Given the description of an element on the screen output the (x, y) to click on. 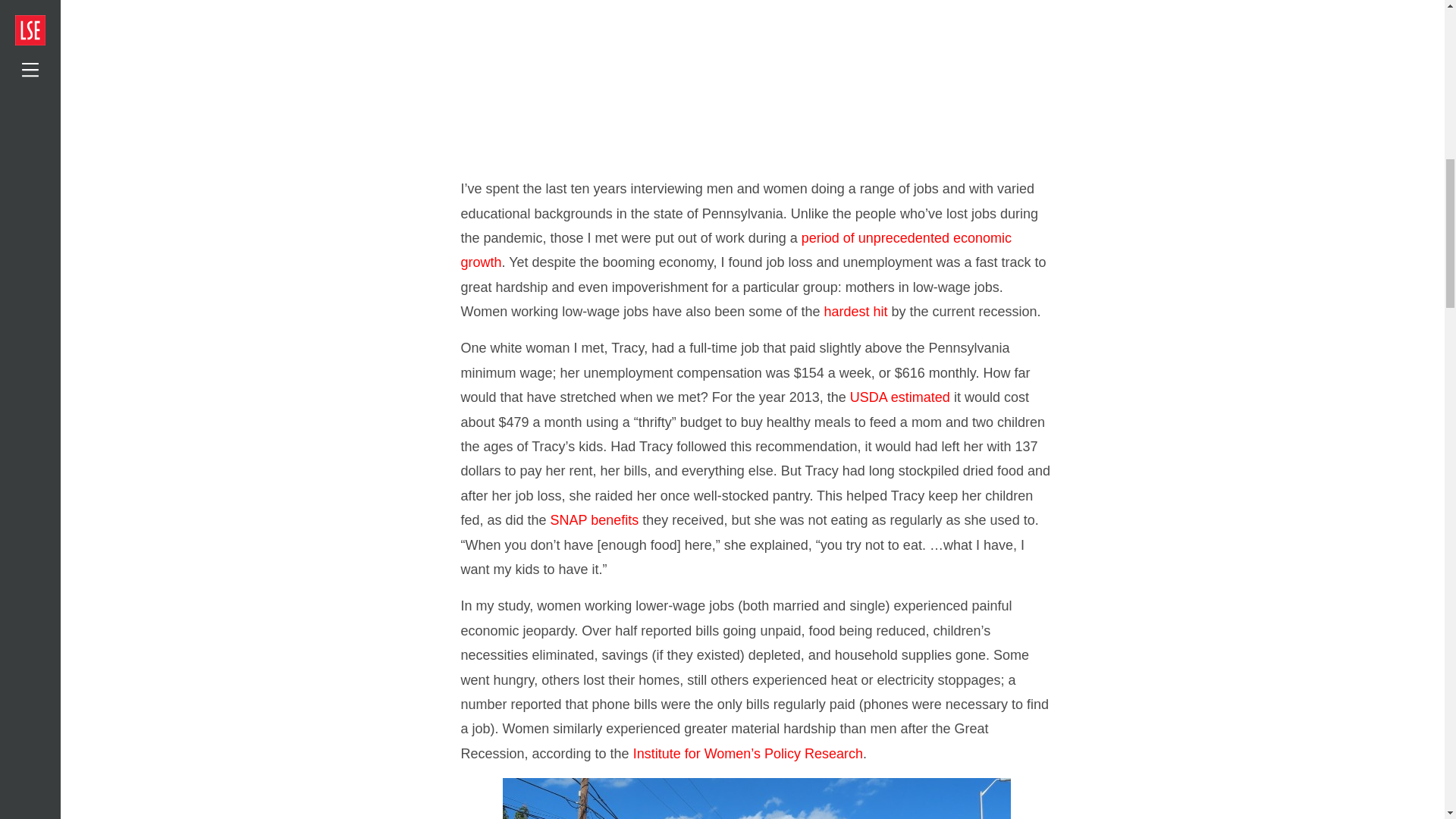
SNAP benefits (594, 519)
hardest hit (855, 311)
period of unprecedented economic growth (736, 250)
USDA estimated (900, 396)
